Given the description of an element on the screen output the (x, y) to click on. 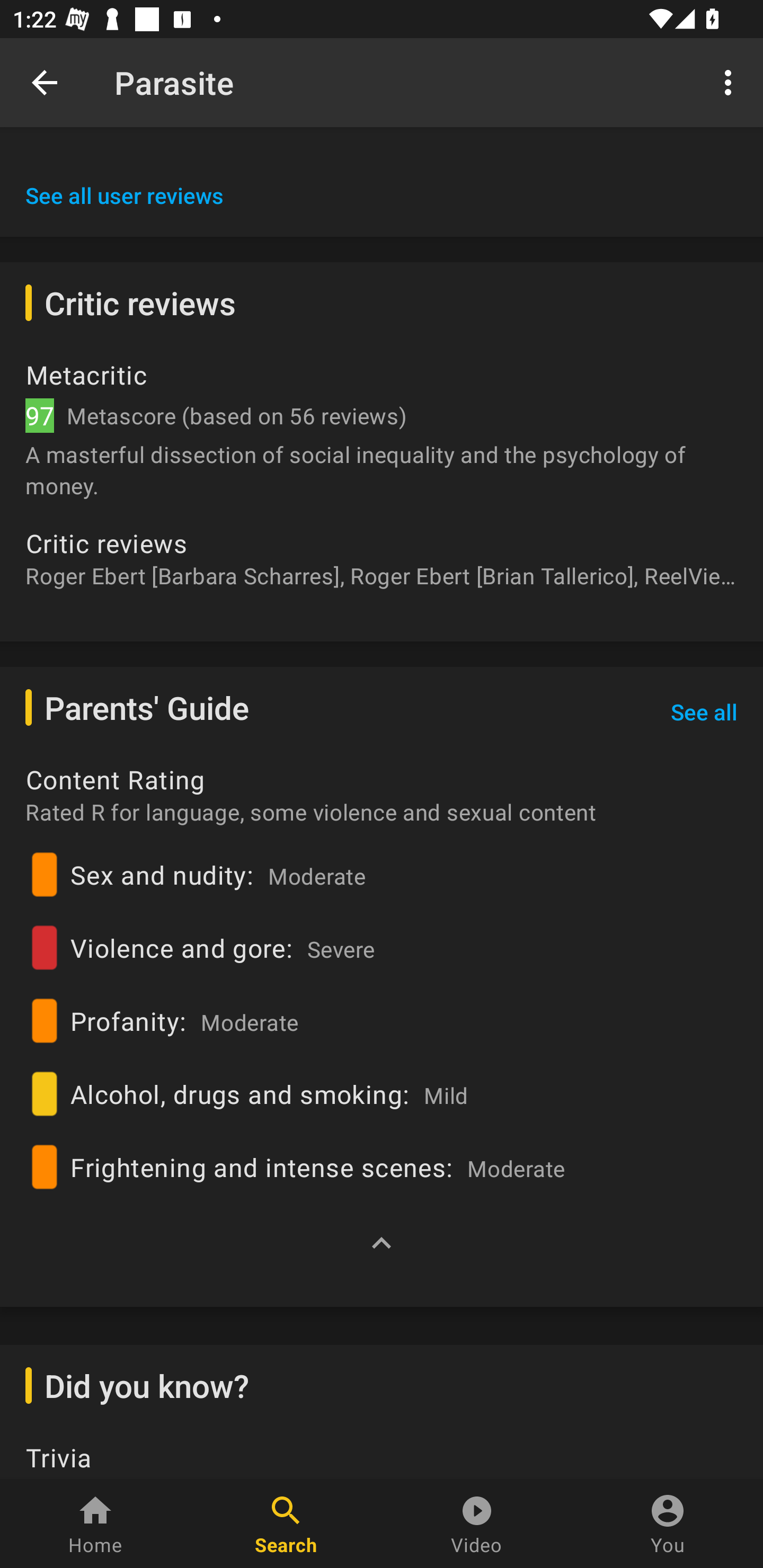
More options (731, 81)
See all user reviews (124, 195)
See all See all  (703, 711)
Trivia (381, 1459)
Home (95, 1523)
Video (476, 1523)
You (667, 1523)
